Given the description of an element on the screen output the (x, y) to click on. 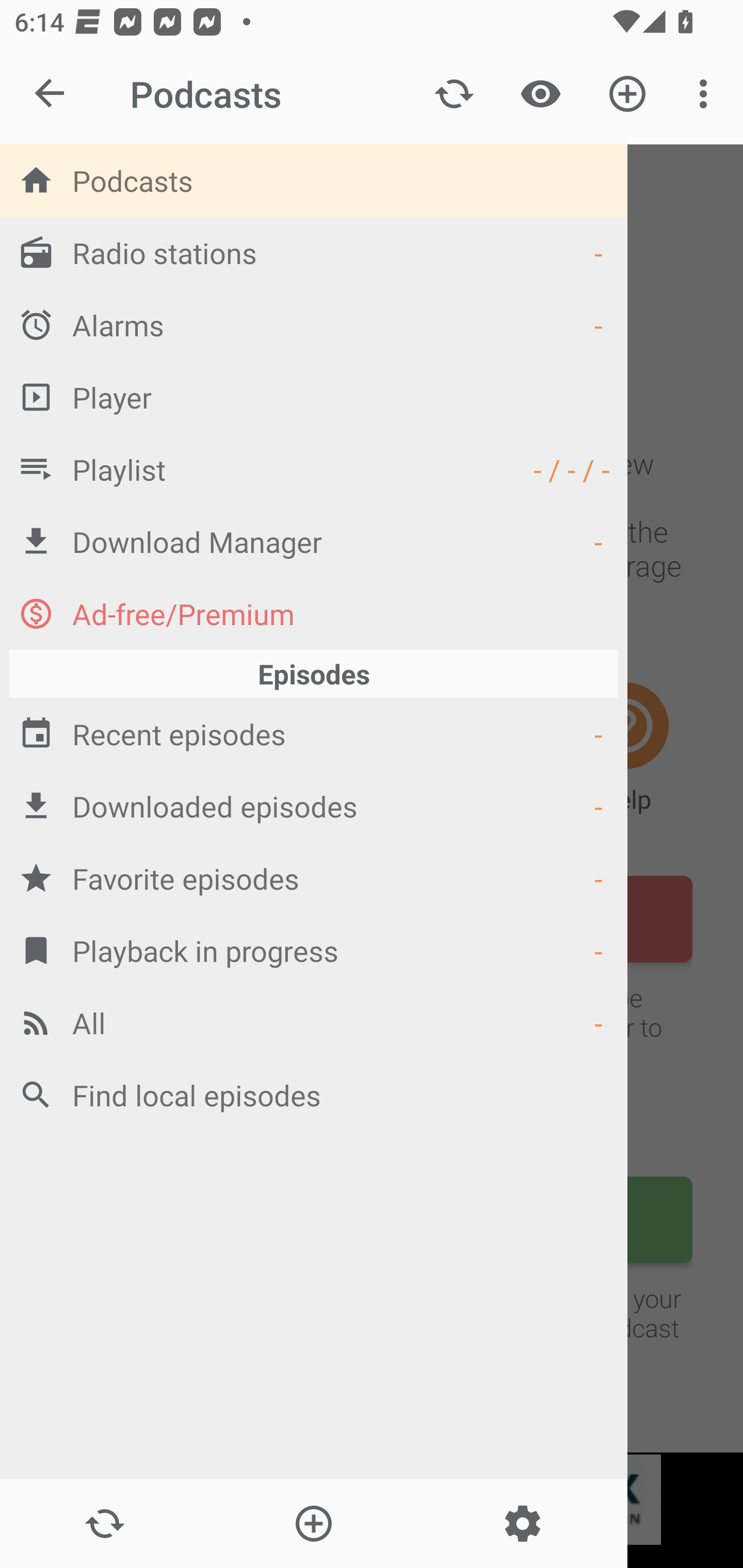
Close navigation sidebar (50, 93)
Update (453, 93)
Show / Hide played content (540, 93)
Add new Podcast (626, 93)
More options (706, 93)
Podcasts (313, 180)
Radio stations  -  (313, 252)
Alarms  -  (313, 324)
Player (313, 396)
Playlist - / - / - (313, 468)
Download Manager  -  (313, 540)
Ad-free/Premium (313, 613)
Recent episodes  -  (313, 733)
Downloaded episodes  -  (313, 805)
Favorite episodes  -  (313, 878)
Playback in progress  -  (313, 950)
All  -  (313, 1022)
Find local episodes (313, 1094)
Update (104, 1523)
Add new Podcast (312, 1523)
Settings (522, 1523)
